Given the description of an element on the screen output the (x, y) to click on. 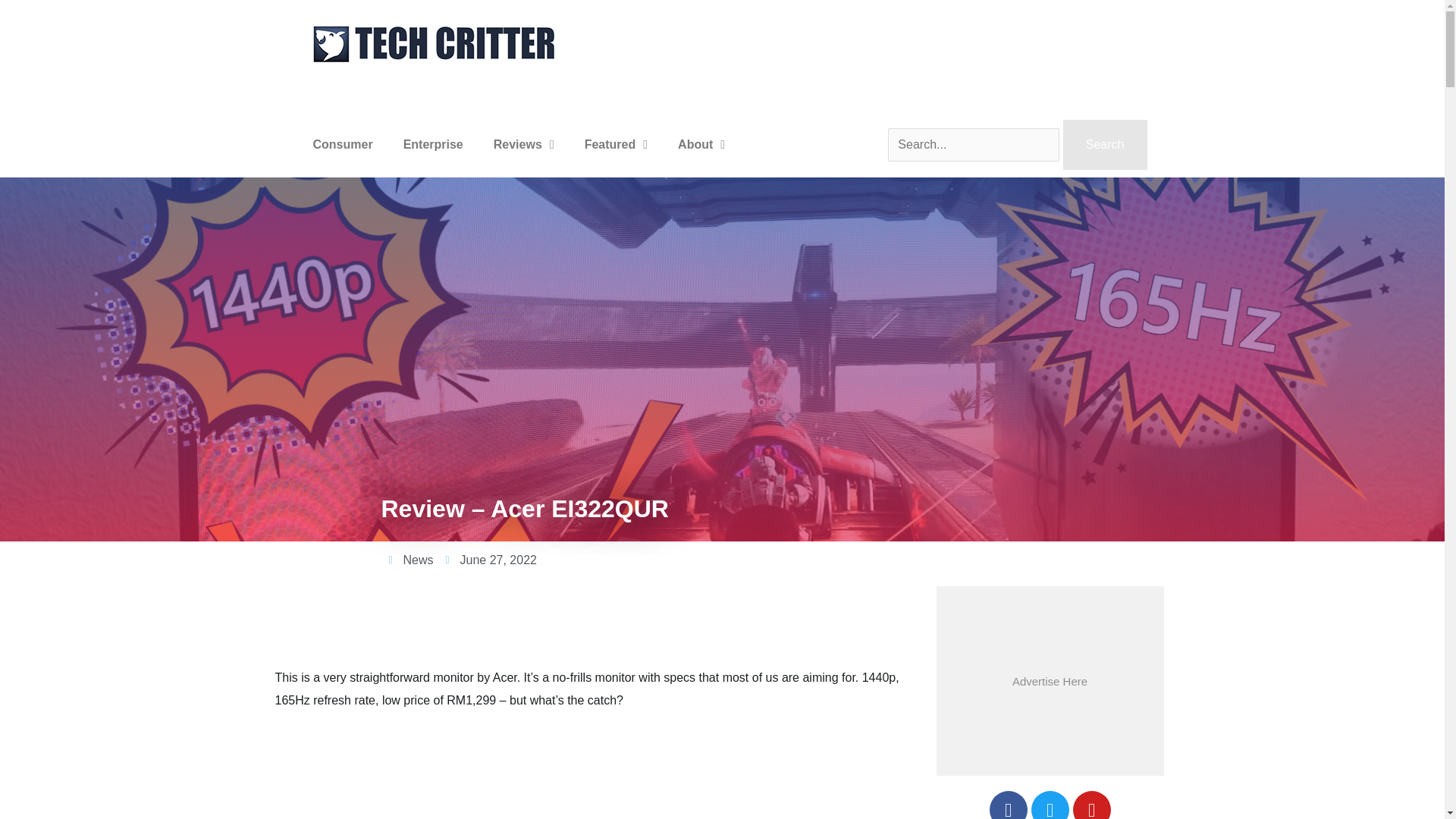
Reviews (524, 144)
Consumer (342, 144)
Search (1104, 144)
Search (1104, 144)
Enterprise (433, 144)
Featured (615, 144)
About (700, 144)
